Given the description of an element on the screen output the (x, y) to click on. 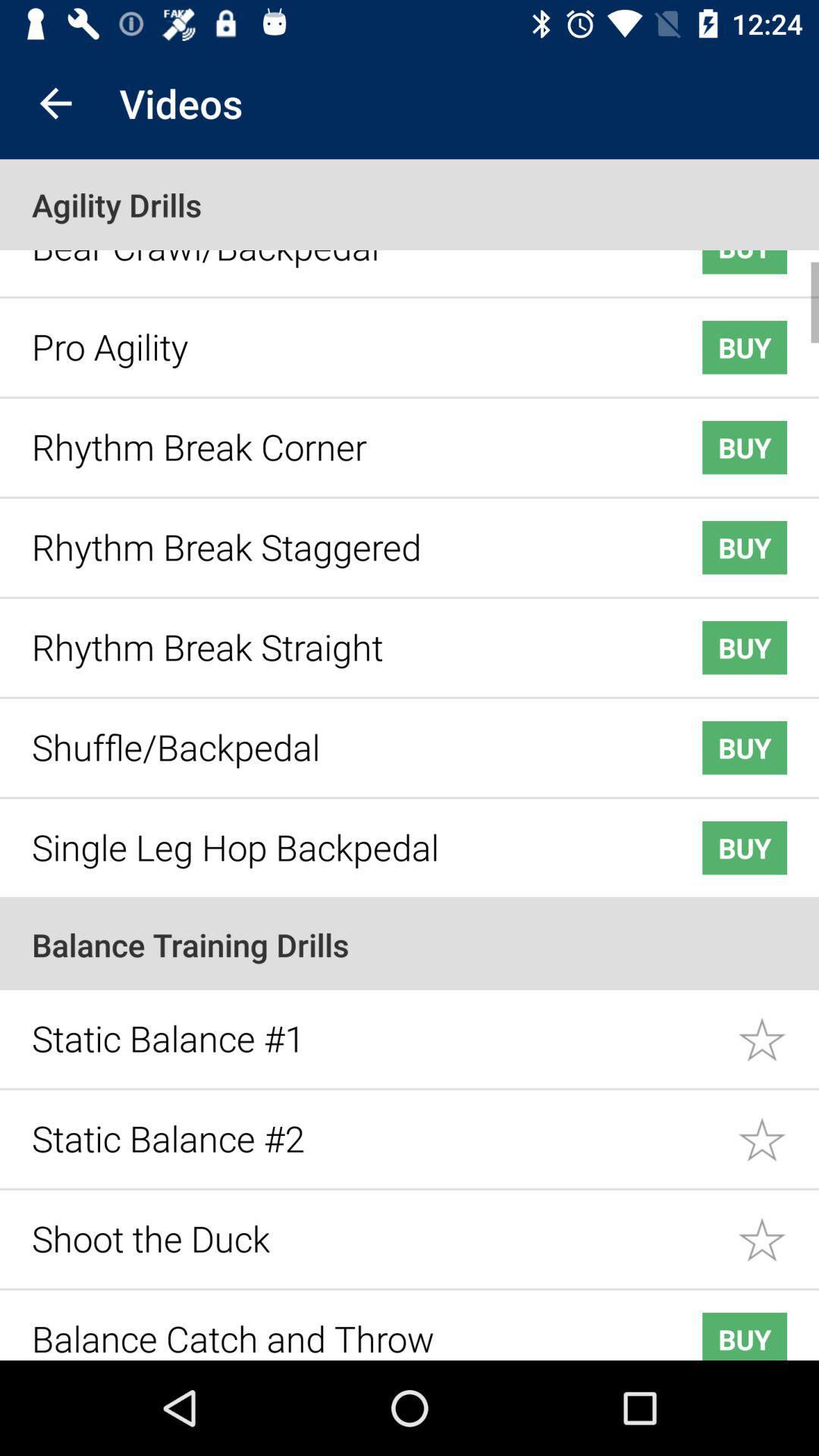
turn off the single leg hop item (342, 836)
